Given the description of an element on the screen output the (x, y) to click on. 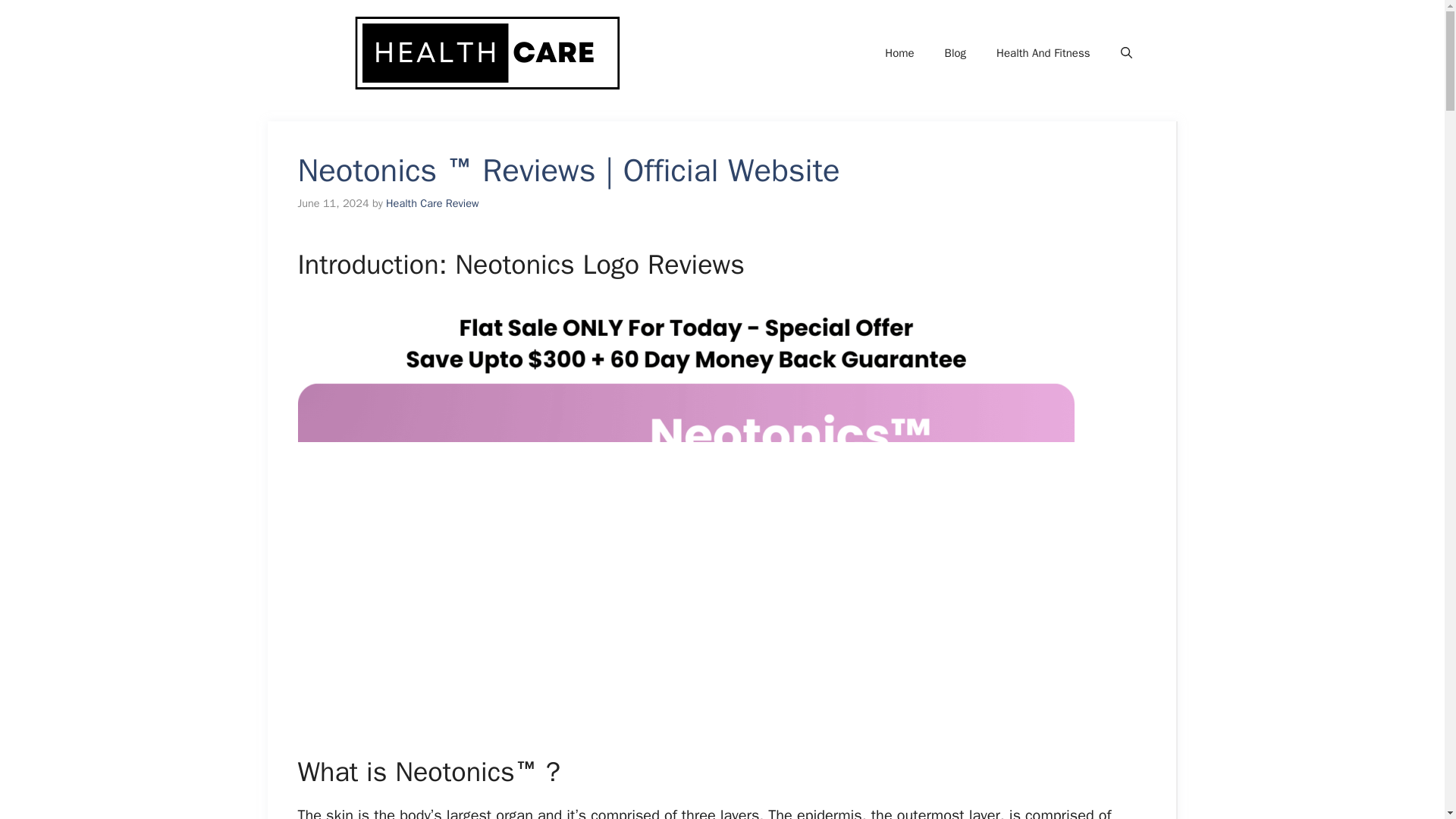
Health Care Review (432, 202)
Health And Fitness (1043, 53)
View all posts by Health Care Review (432, 202)
Blog (955, 53)
Home (898, 53)
